Given the description of an element on the screen output the (x, y) to click on. 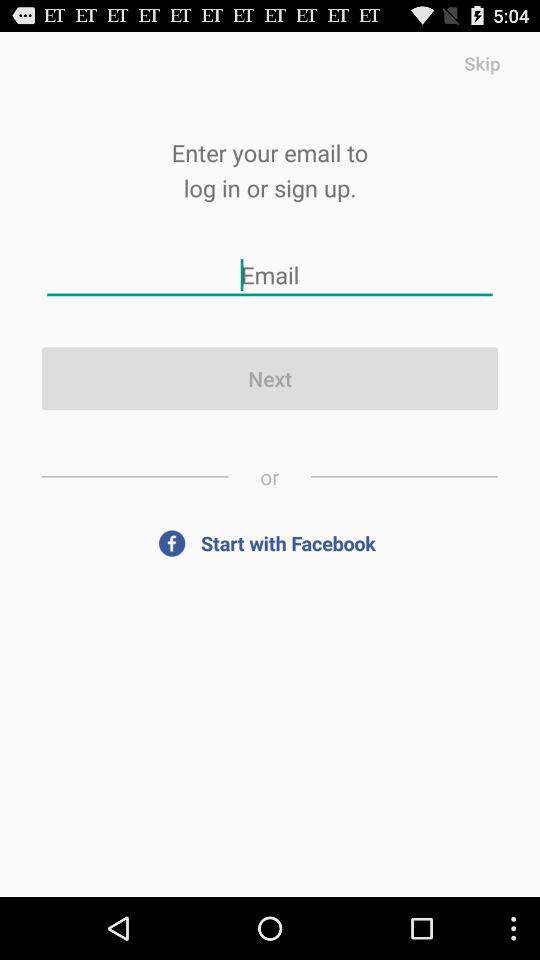
scroll until start with facebook icon (269, 542)
